Given the description of an element on the screen output the (x, y) to click on. 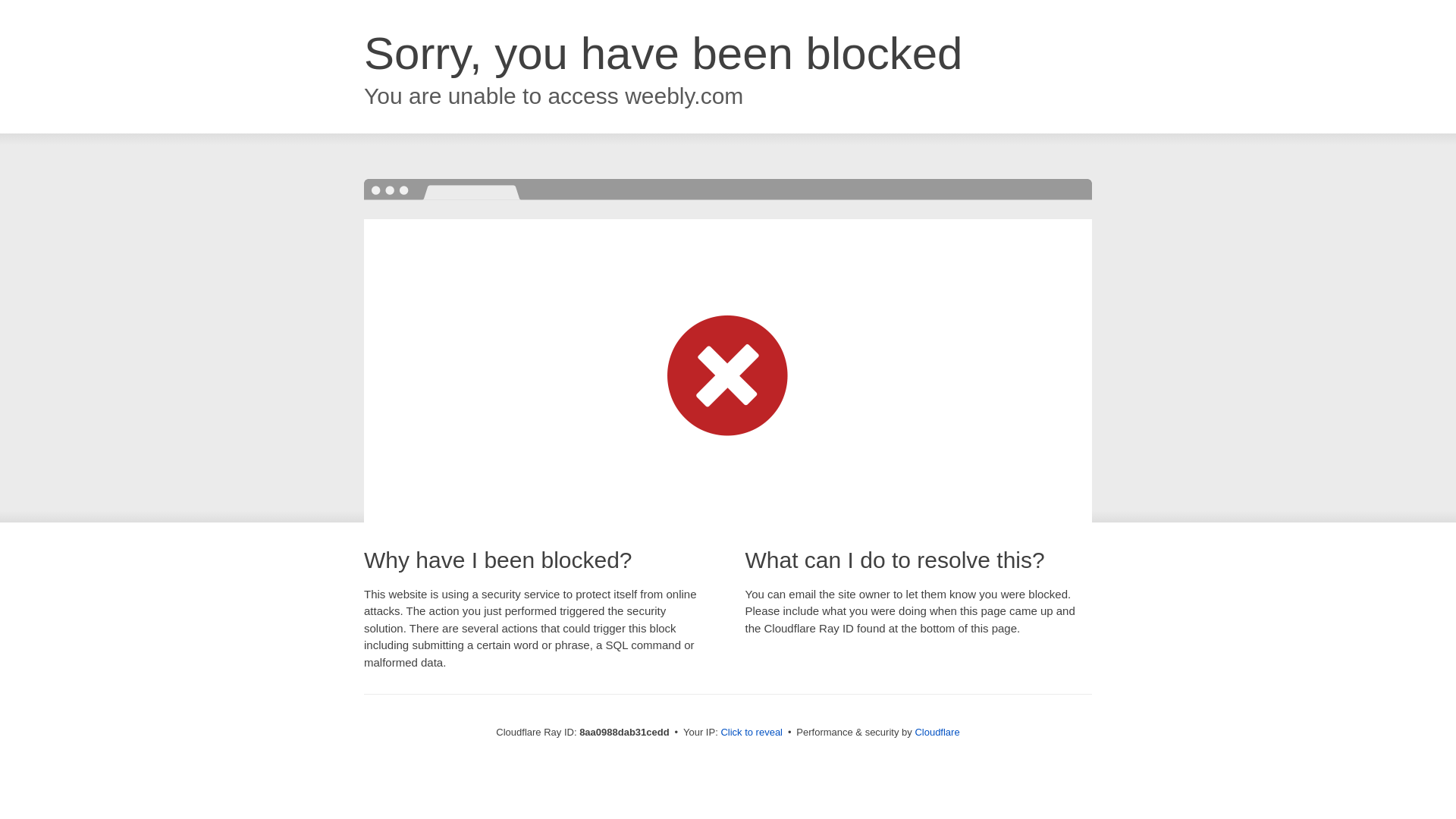
Click to reveal (751, 732)
Cloudflare (936, 731)
